Given the description of an element on the screen output the (x, y) to click on. 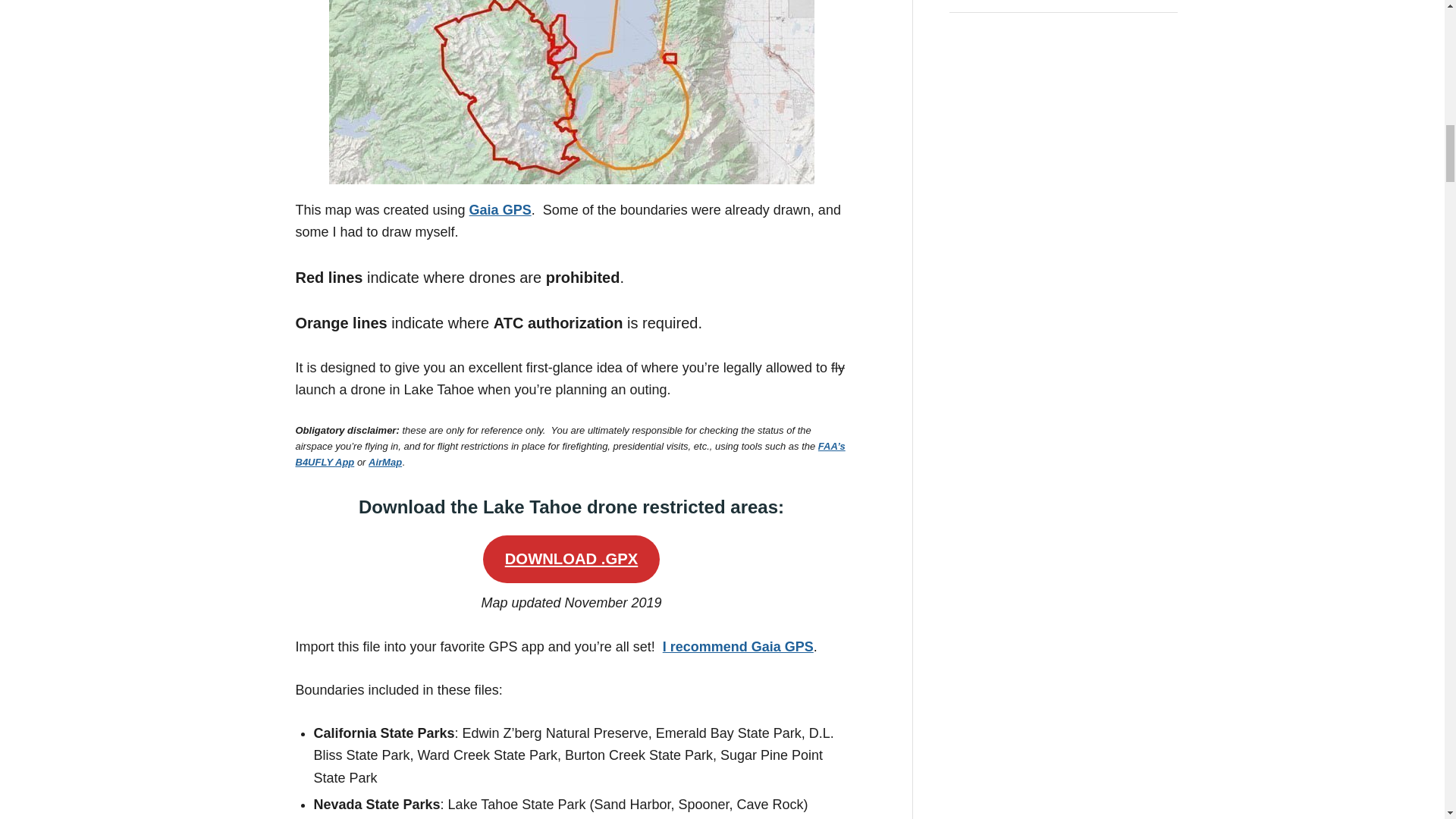
AirMap (384, 461)
I recommend Gaia GPS (737, 646)
Gaia GPS (499, 209)
DOWNLOAD .GPX (571, 559)
